Given the description of an element on the screen output the (x, y) to click on. 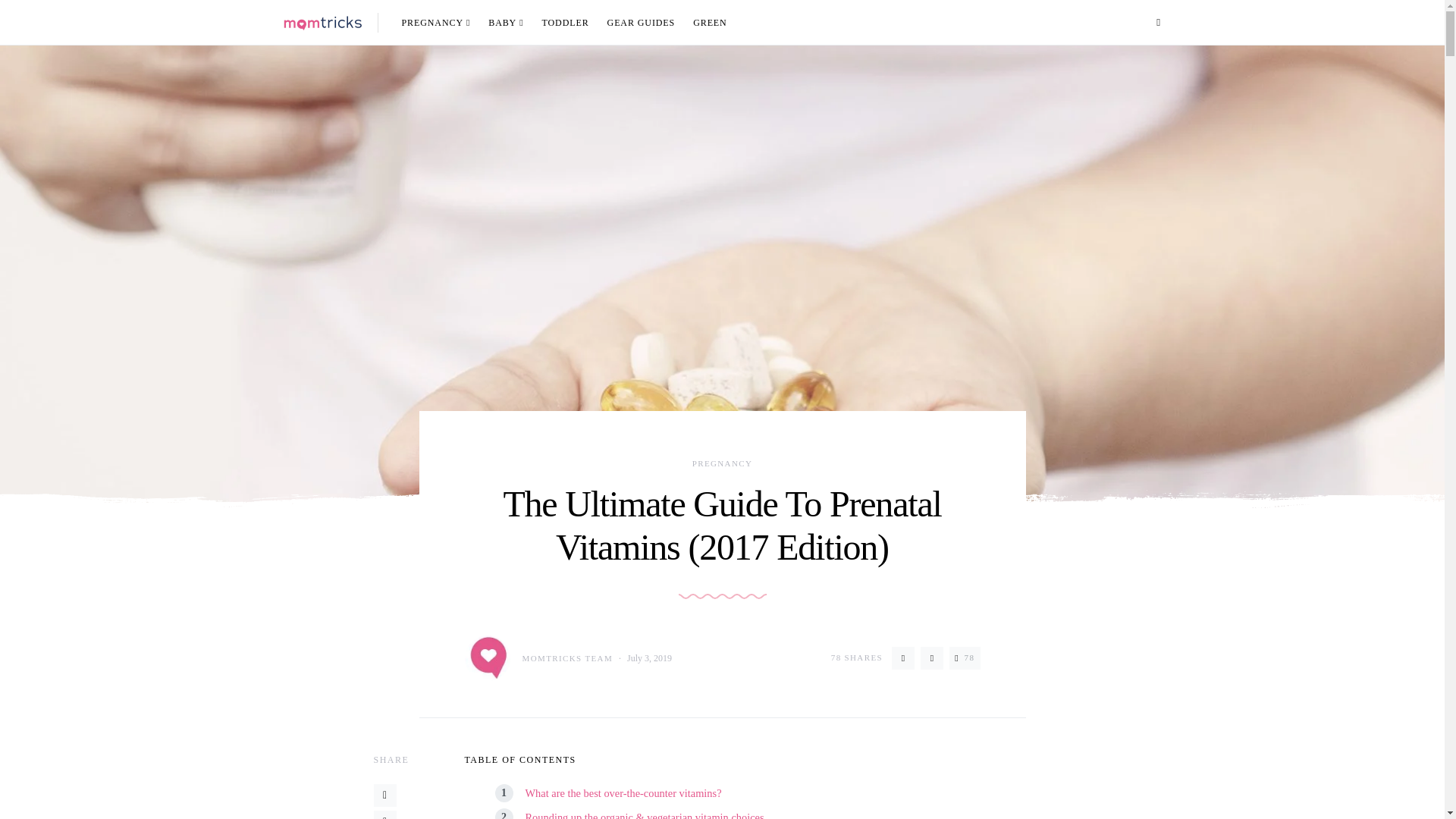
View all posts by MomTricks Team (538, 657)
BABY (505, 22)
PREGNANCY (440, 22)
